Given the description of an element on the screen output the (x, y) to click on. 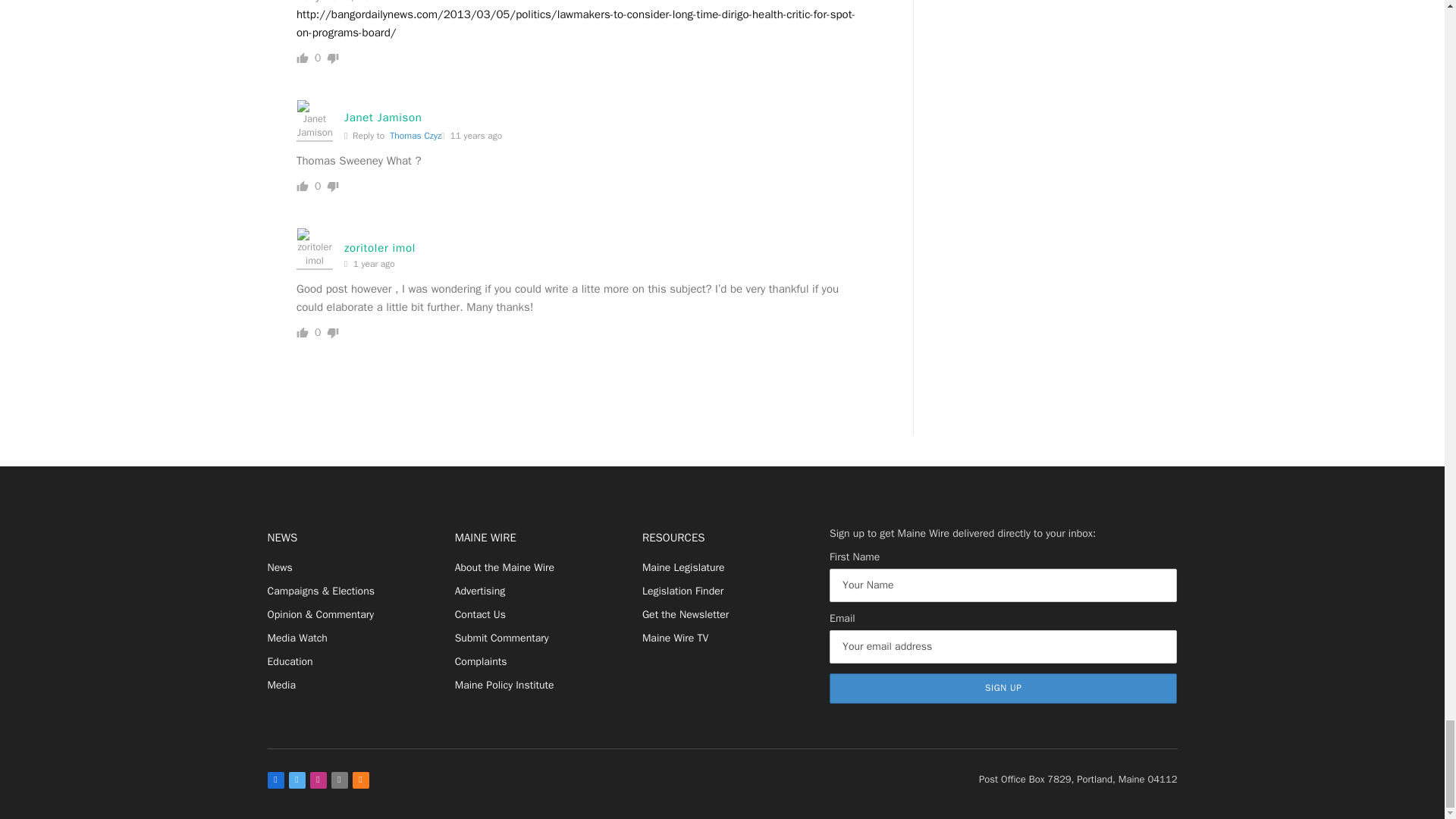
Sign up (1002, 688)
